Given the description of an element on the screen output the (x, y) to click on. 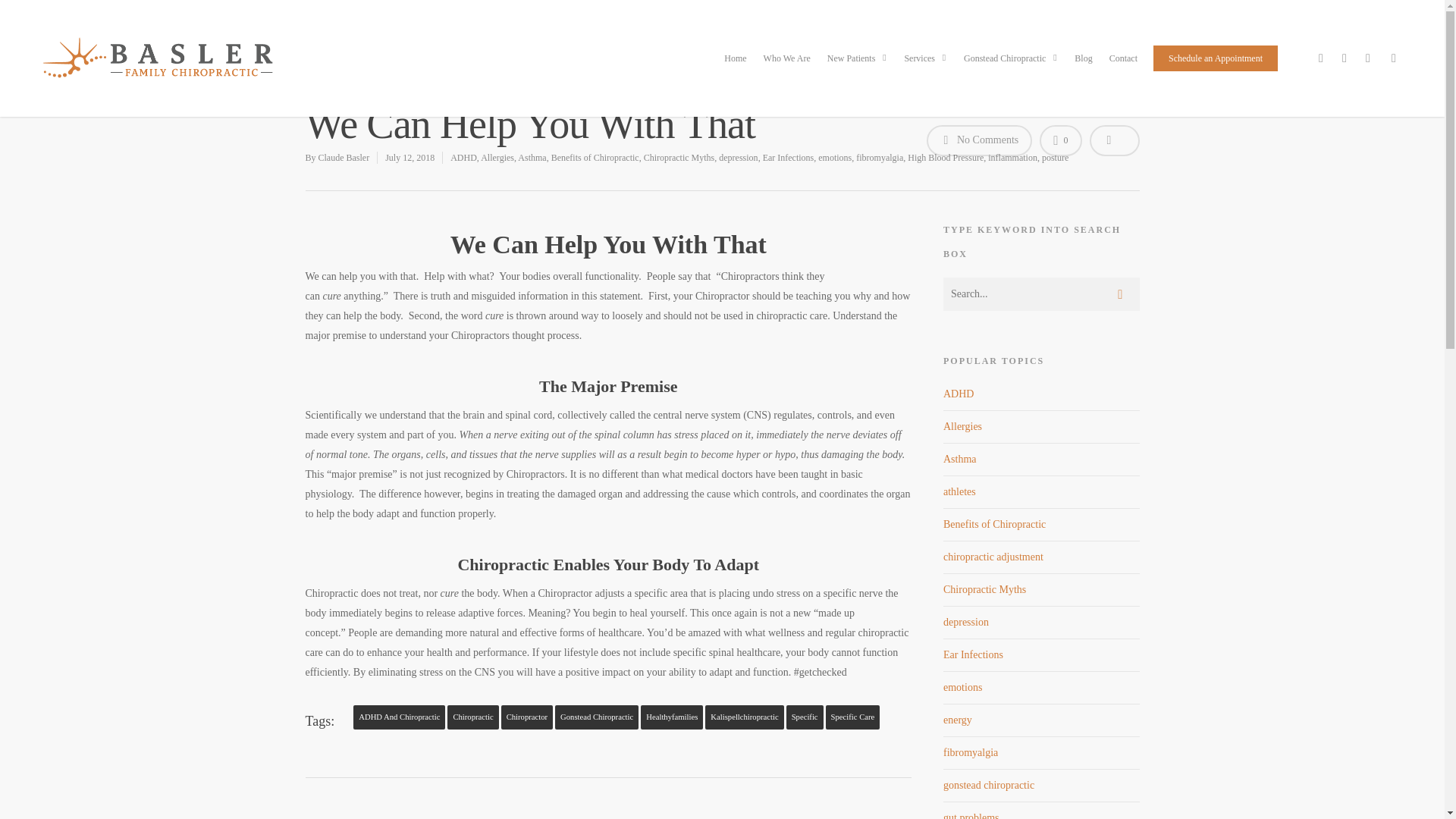
Gonstead Chiropractic (1010, 69)
Search for: (1041, 294)
Posts by Claude Basler (343, 157)
Claude Basler (343, 157)
Schedule an Appointment (1215, 69)
Love this (1060, 140)
